Given the description of an element on the screen output the (x, y) to click on. 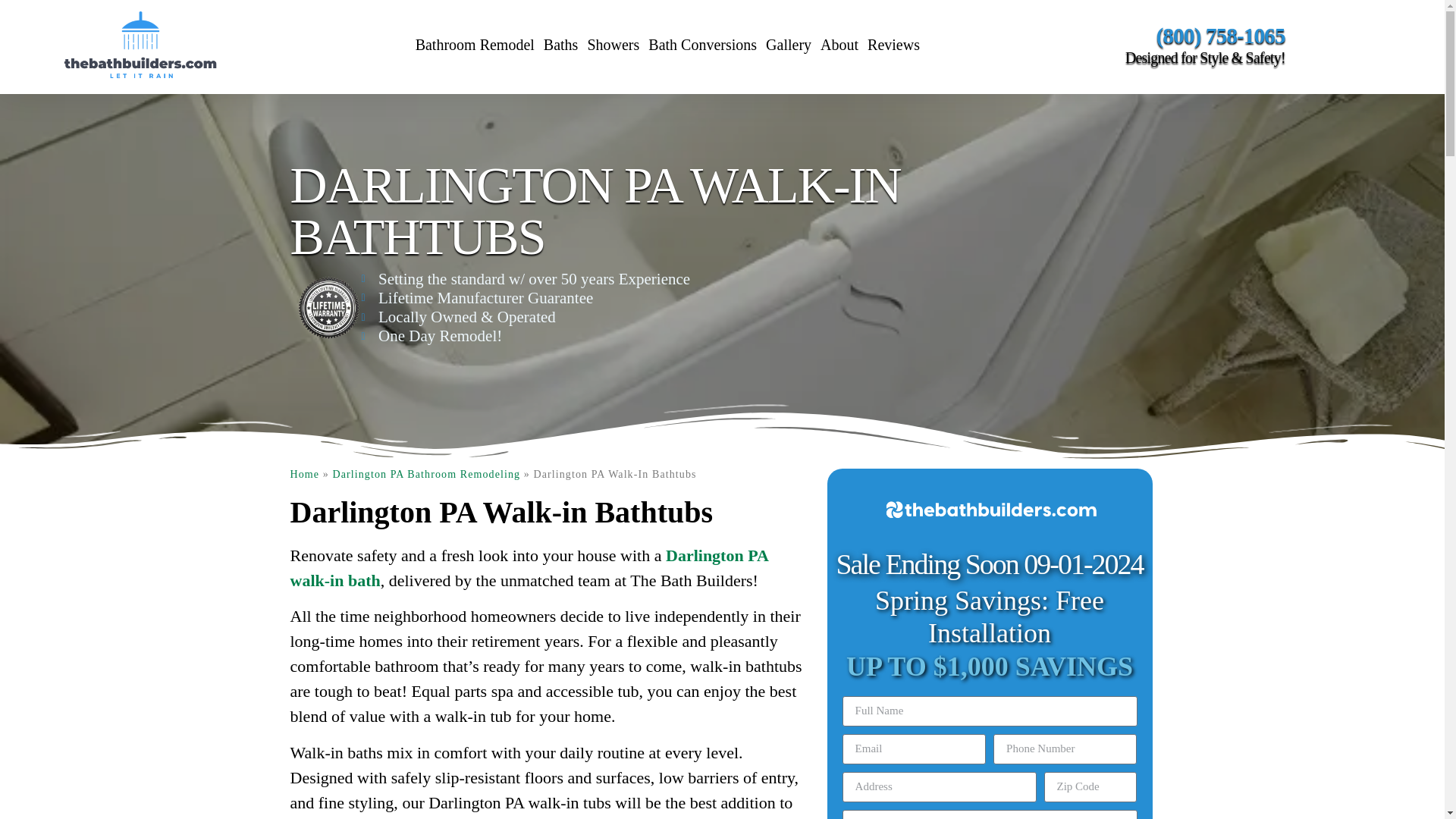
Bathroom Remodel Services (474, 44)
Baths (560, 44)
Baths (560, 44)
About (839, 44)
Showers (612, 44)
Bath Conversions (702, 44)
Bathroom Remodel (474, 44)
Gallery (788, 44)
